Given the description of an element on the screen output the (x, y) to click on. 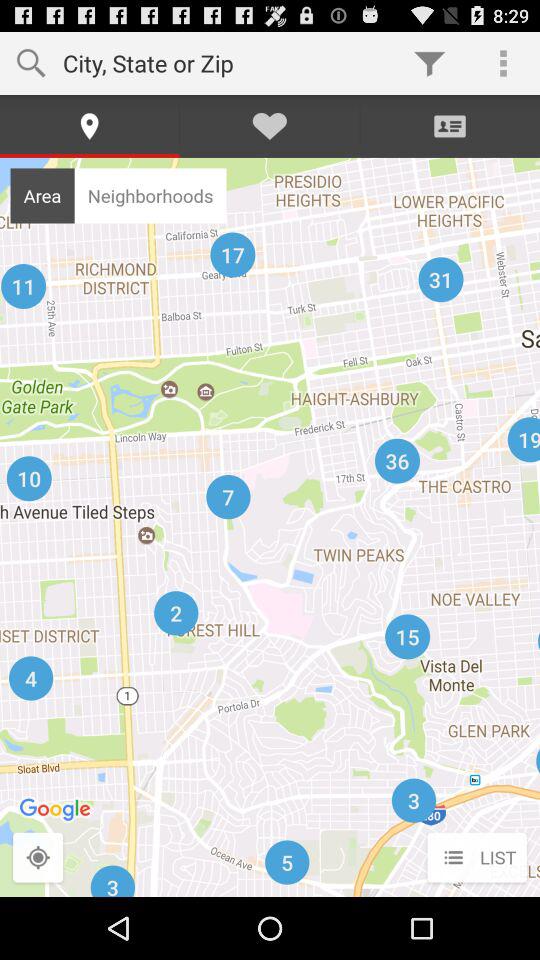
launch item next to area (150, 195)
